Given the description of an element on the screen output the (x, y) to click on. 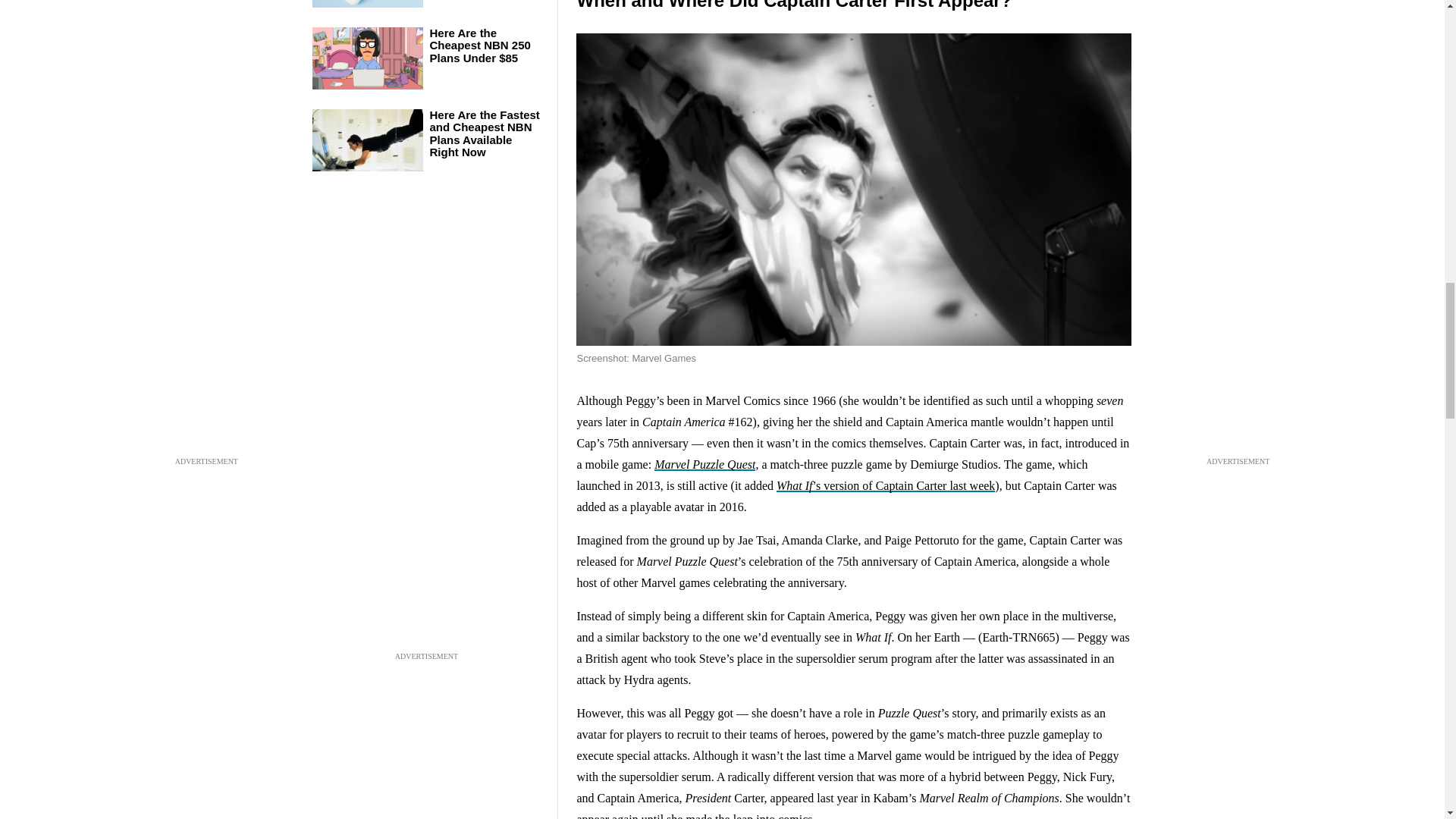
3rd party ad content (426, 422)
